Given the description of an element on the screen output the (x, y) to click on. 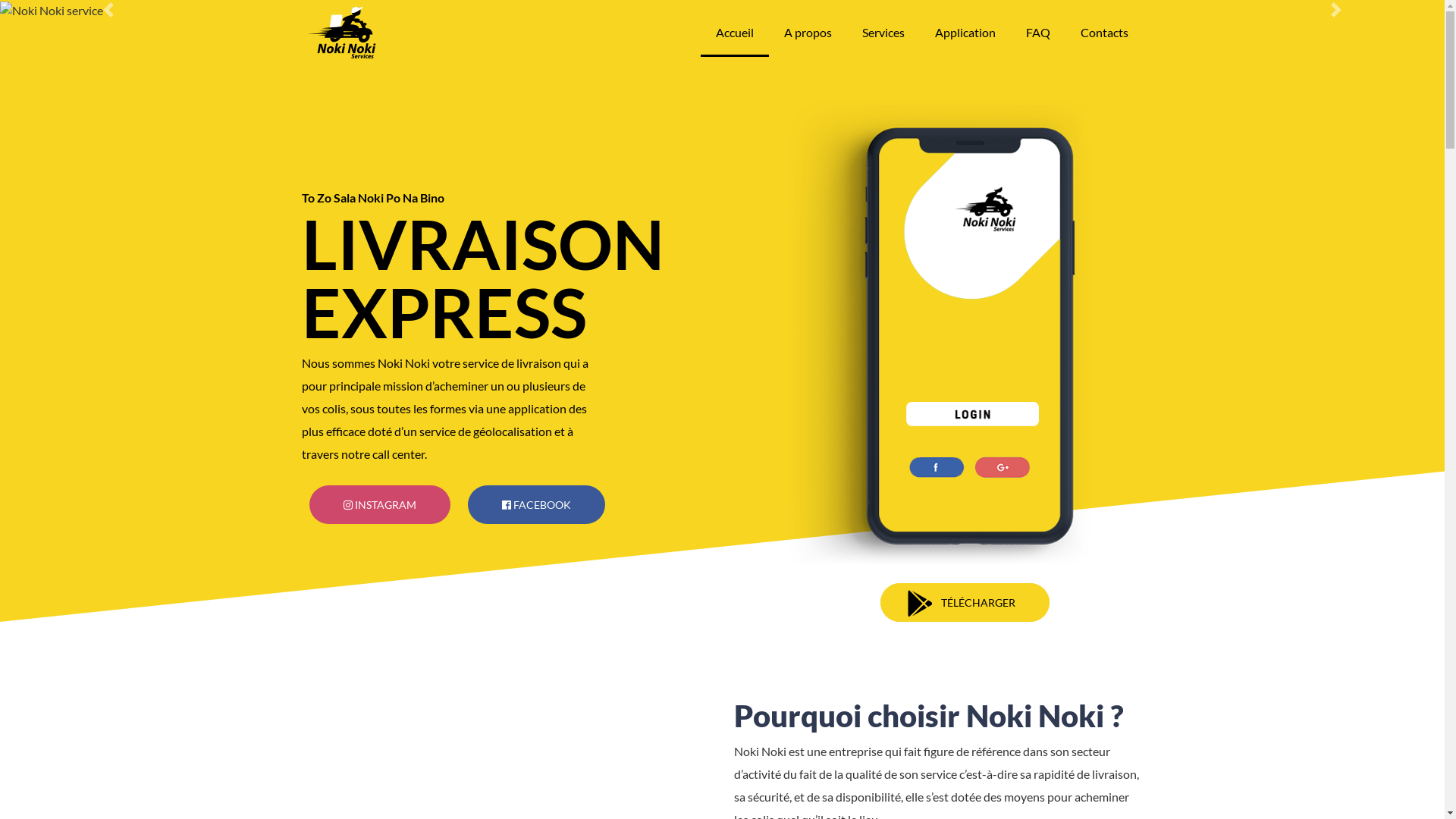
INSTAGRAM Element type: text (379, 504)
Next Element type: text (1335, 9)
Accueil Element type: text (734, 32)
Contacts Element type: text (1103, 32)
FAQ Element type: text (1037, 32)
A propos Element type: text (807, 32)
Previous Element type: text (108, 9)
Application Element type: text (964, 32)
FACEBOOK Element type: text (535, 504)
Services Element type: text (882, 32)
